Given the description of an element on the screen output the (x, y) to click on. 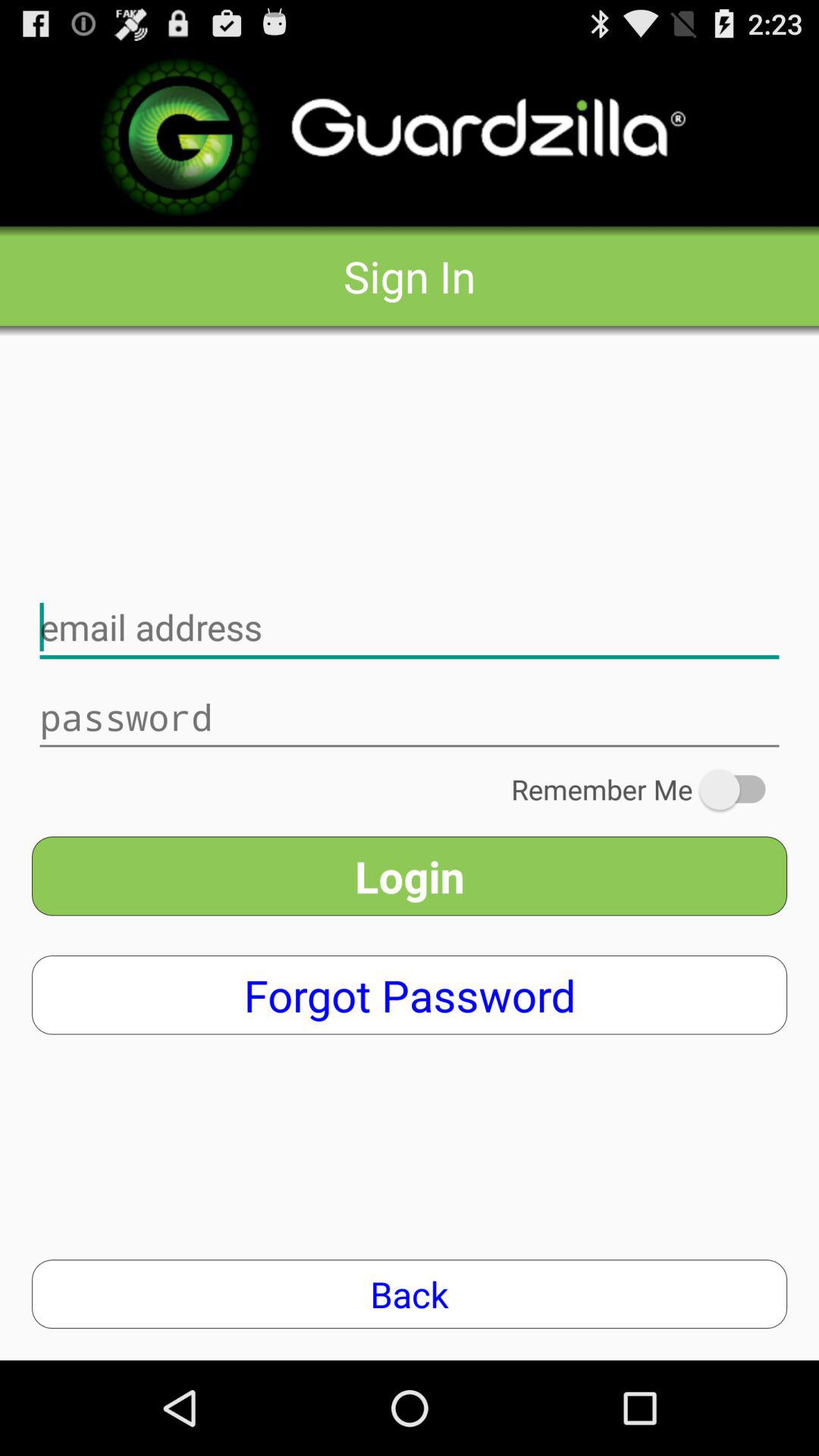
open app above the forgot password (409, 875)
